Given the description of an element on the screen output the (x, y) to click on. 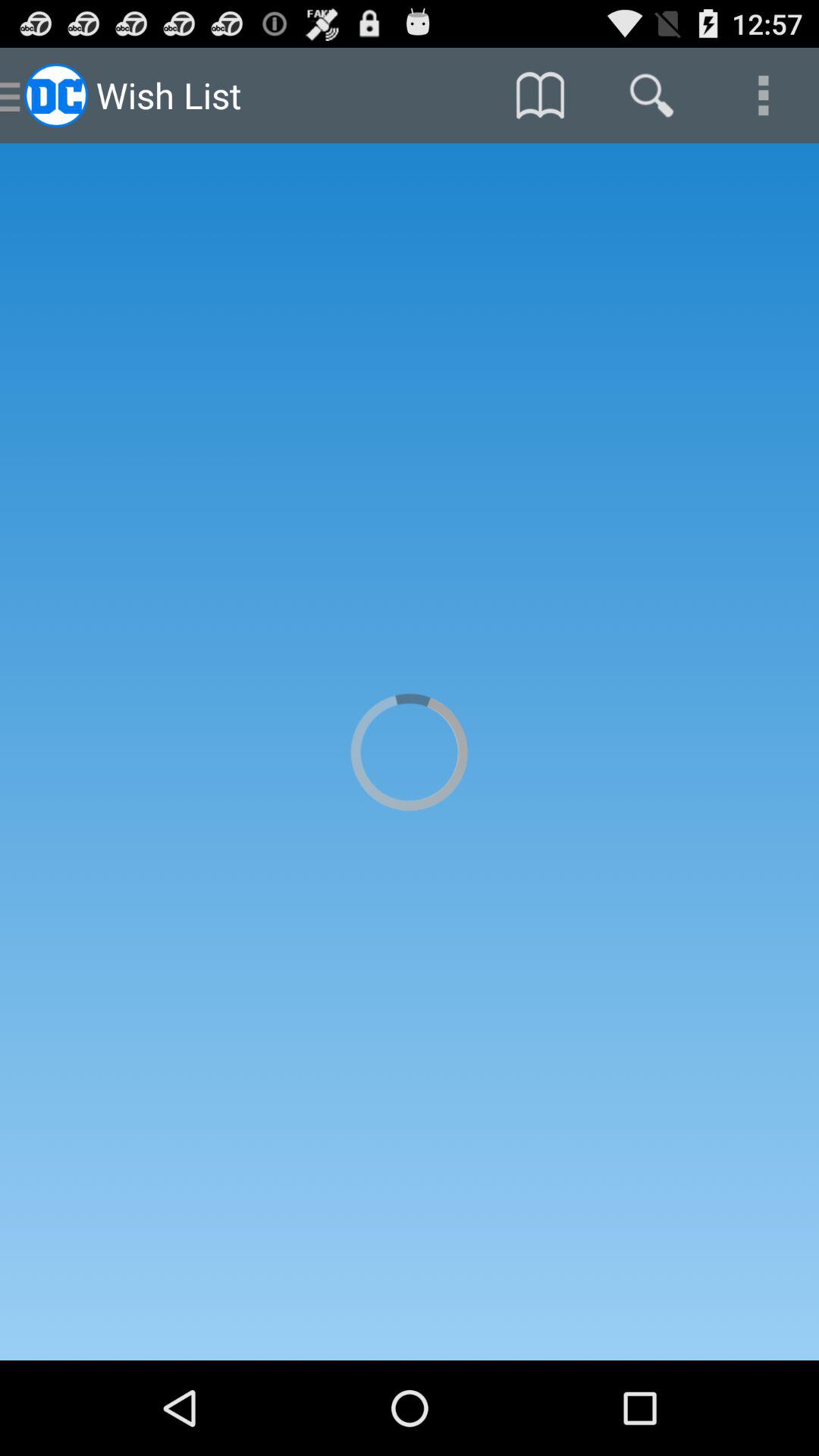
press the icon above there are no (540, 95)
